Given the description of an element on the screen output the (x, y) to click on. 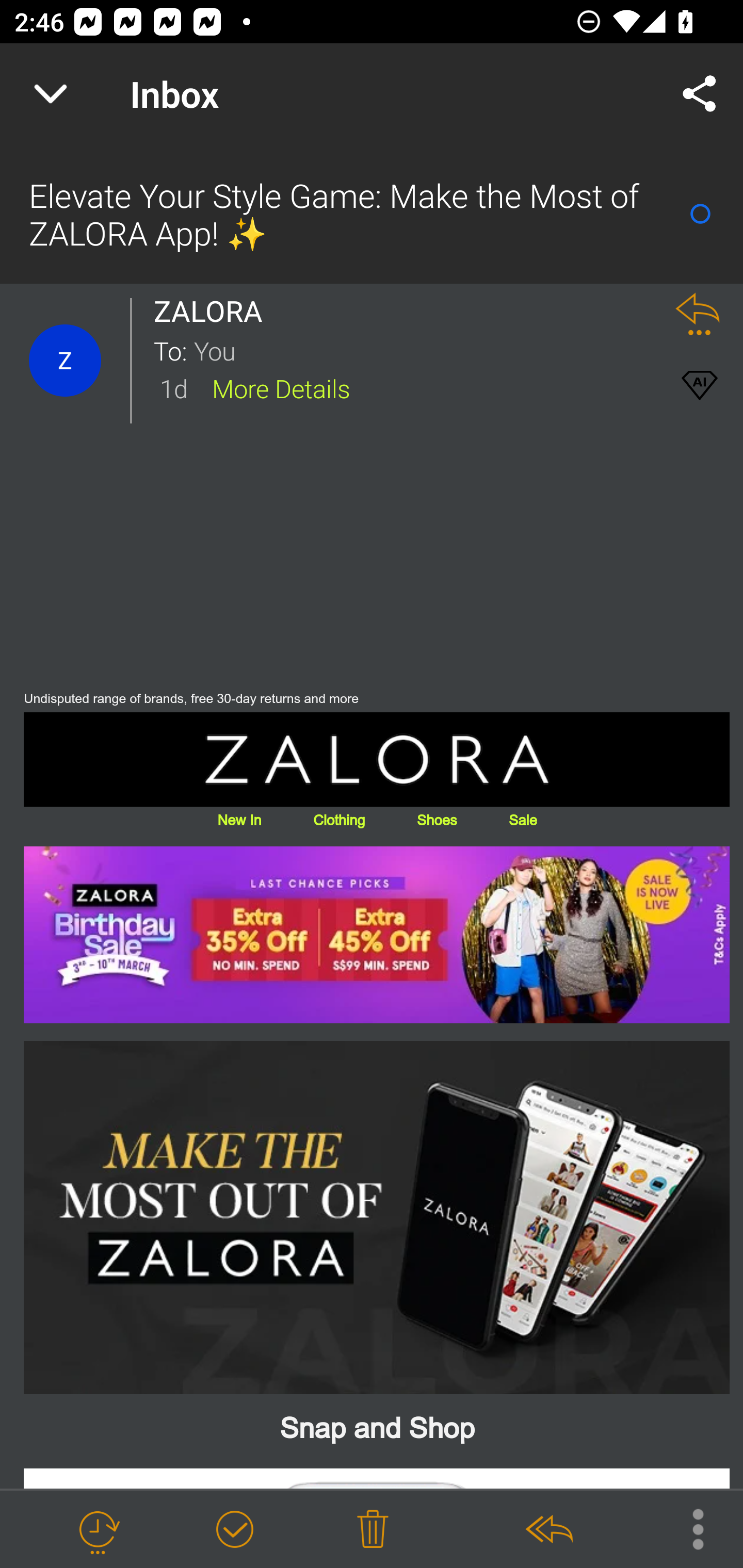
Navigate up (50, 93)
Share (699, 93)
Mark as Read (699, 213)
ZALORA (213, 310)
Contact Details (64, 360)
More Details (280, 387)
ZALORA (377, 758)
New In (238, 818)
Clothing (339, 818)
Shoes (436, 818)
Sale (522, 818)
click?upn=u001 (377, 934)
banner1 (377, 1217)
More Options (687, 1528)
Snooze (97, 1529)
Mark as Done (234, 1529)
Delete (372, 1529)
Reply All (548, 1529)
